Given the description of an element on the screen output the (x, y) to click on. 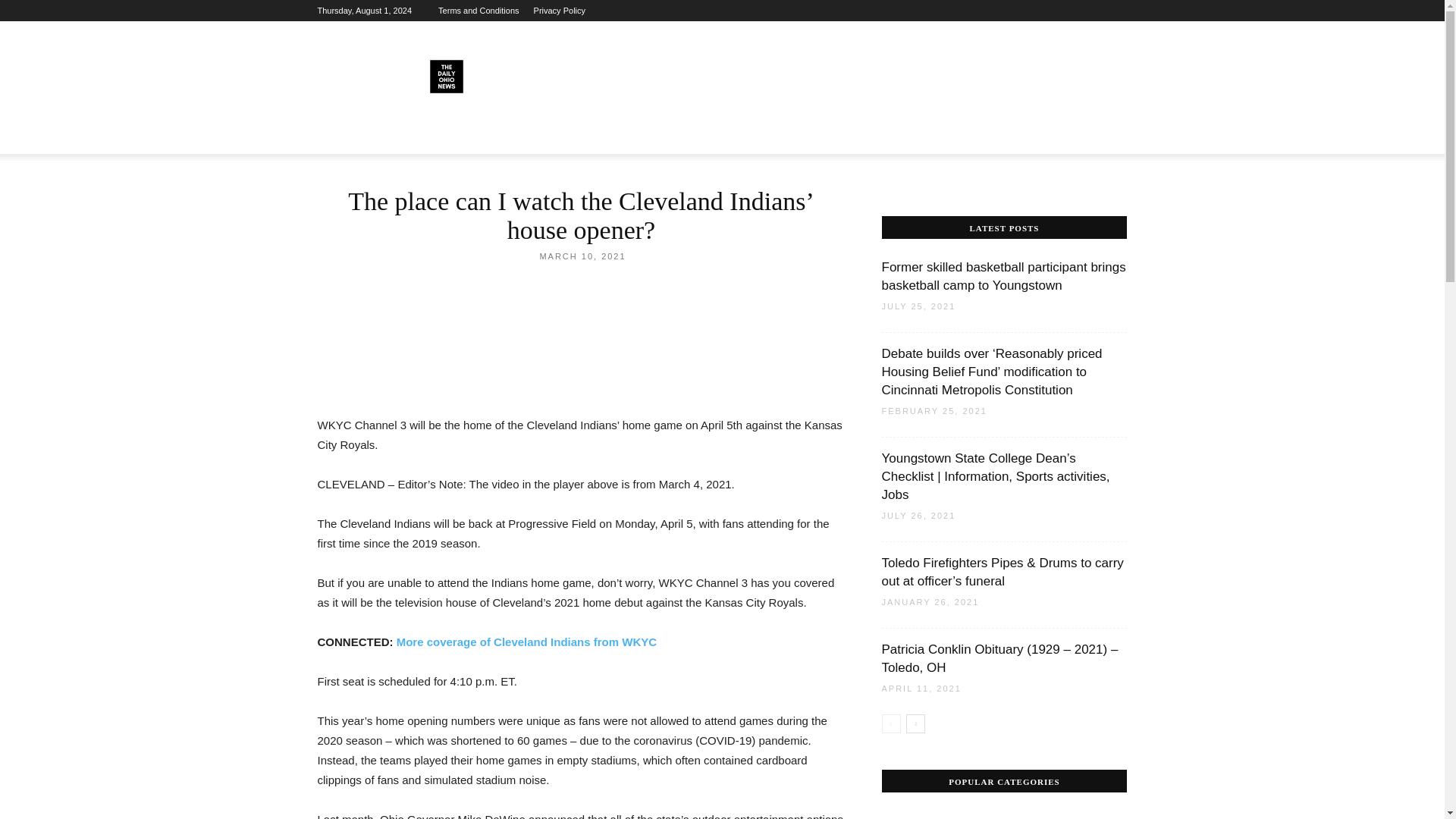
Terms and Conditions (478, 10)
More coverage of Cleveland Indians from WKYC (526, 641)
HOME (341, 135)
Search (1083, 197)
Privacy Policy (559, 10)
TOLEDO (614, 135)
CINCINNATI (402, 135)
CLEVELAND (477, 135)
YOUNGSTOWN (686, 135)
COLUMBUS (550, 135)
